Given the description of an element on the screen output the (x, y) to click on. 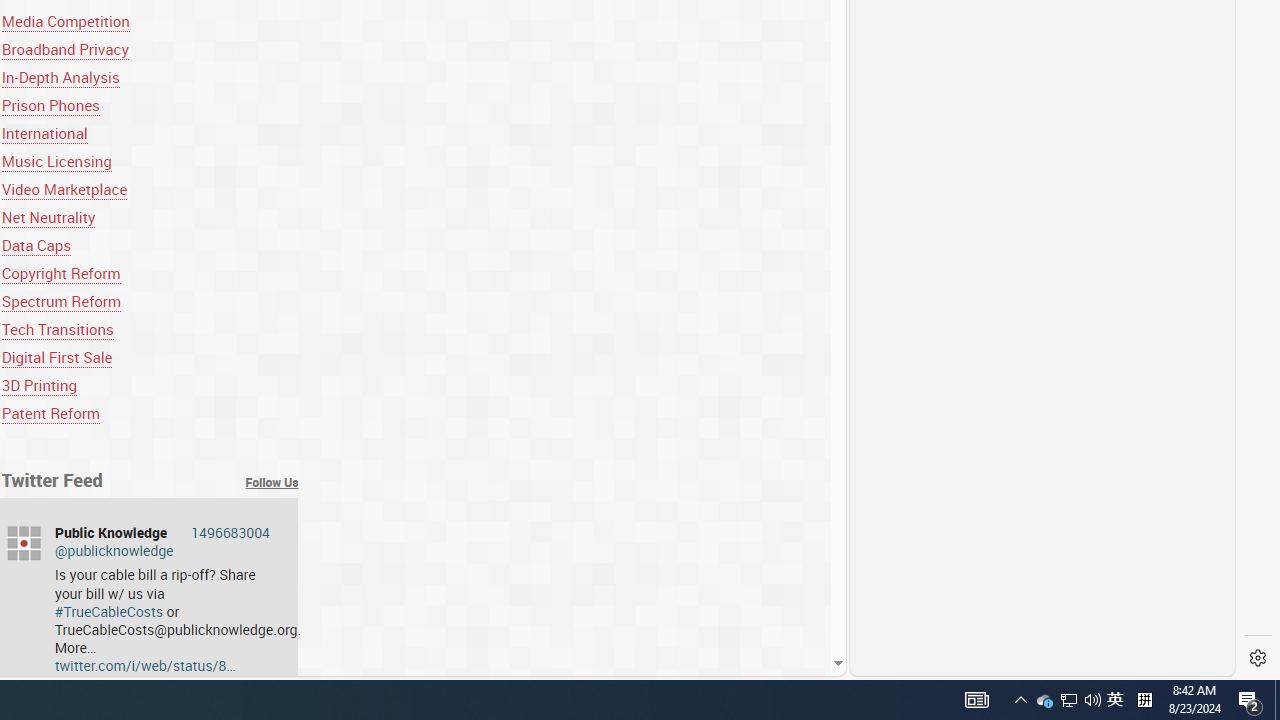
Patent Reform (150, 413)
Broadband Privacy (150, 48)
In-Depth Analysis (60, 76)
Video Marketplace (64, 189)
Music Licensing (150, 161)
Net Neutrality (150, 217)
publicknowledge (24, 543)
Spectrum Reform (150, 300)
International (150, 133)
Copyright Reform (150, 272)
In-Depth Analysis (150, 76)
Net Neutrality (48, 217)
Follow Us (271, 481)
3D Printing (150, 385)
Media Competition (65, 20)
